Given the description of an element on the screen output the (x, y) to click on. 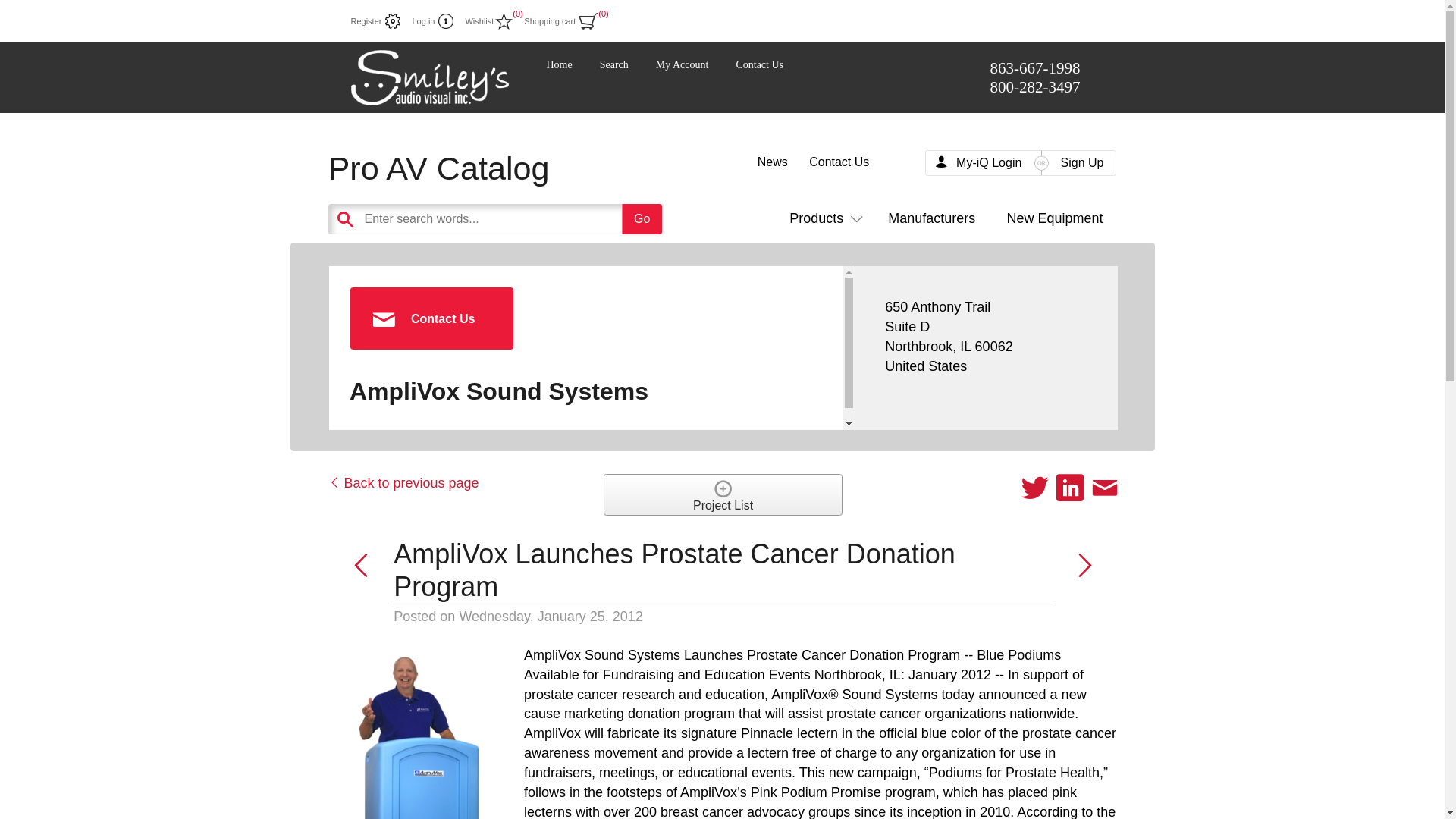
800-282-3497 (1035, 85)
Smiley's Audio-Visual, Inc. (429, 77)
Home (559, 64)
Enter search words... (531, 218)
863-667-1998 (1035, 67)
Register (375, 21)
Search (613, 64)
Contact Us (759, 64)
Log in (432, 21)
Go (641, 218)
Go (641, 218)
My Account (682, 64)
